Given the description of an element on the screen output the (x, y) to click on. 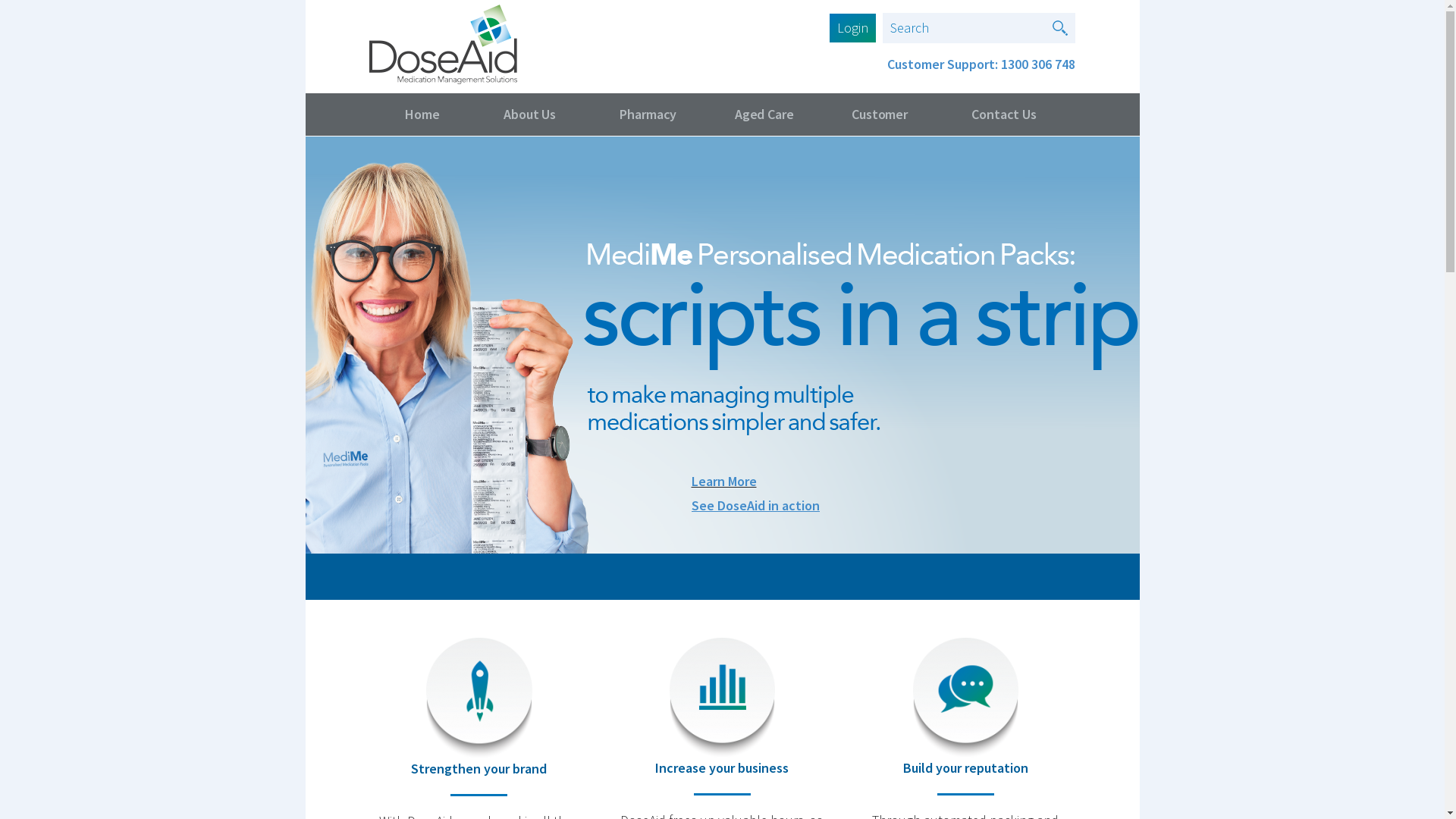
Learn More Element type: text (723, 480)
Aged Care Element type: text (763, 114)
Contact Us Element type: text (1004, 114)
Customer Element type: text (879, 114)
About Us Element type: text (529, 114)
See DoseAid in action Element type: text (755, 505)
Home Element type: text (421, 114)
Customer Support: 1300 306 748 Element type: text (981, 63)
Pharmacy Element type: text (648, 114)
  Element type: text (1059, 27)
